Given the description of an element on the screen output the (x, y) to click on. 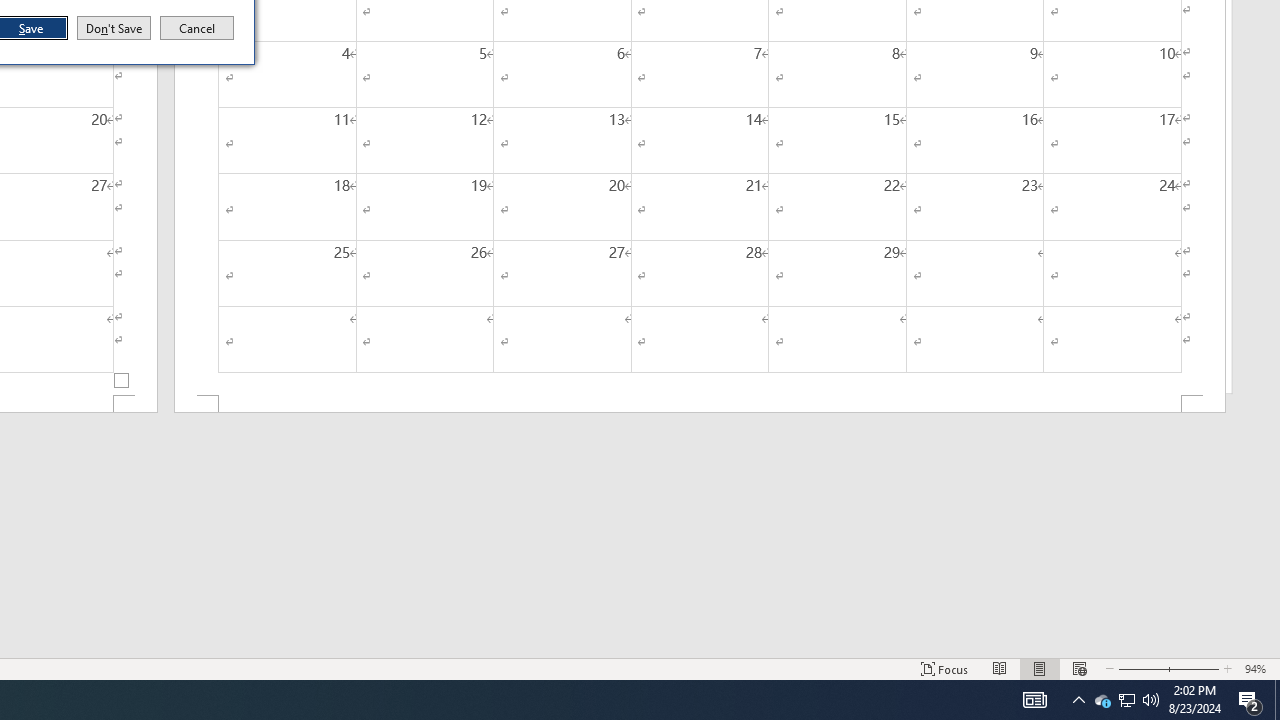
Footer -Section 2- (700, 404)
Notification Chevron (1078, 699)
Action Center, 2 new notifications (1250, 699)
